Given the description of an element on the screen output the (x, y) to click on. 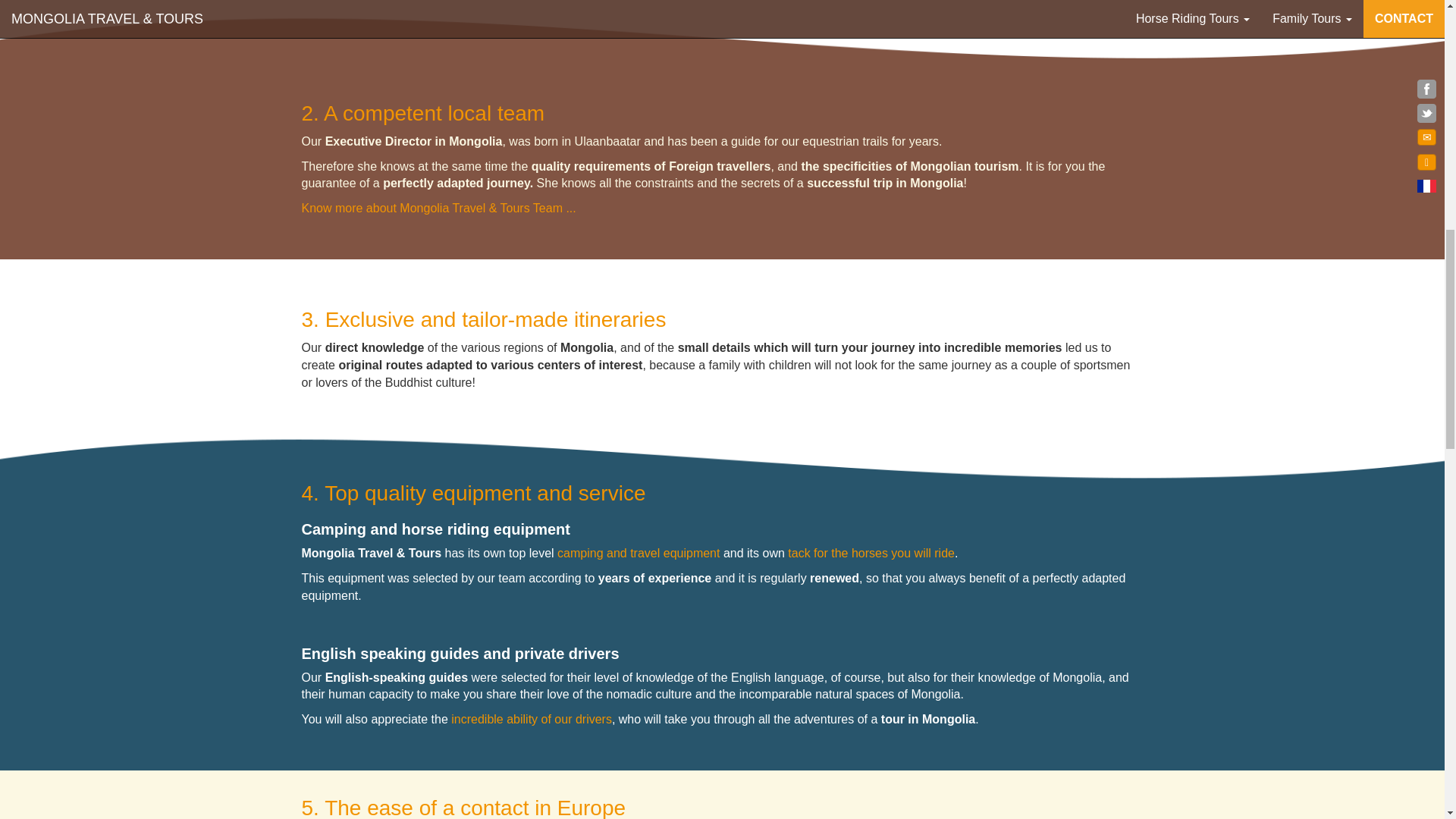
camping and travel equipment (637, 553)
incredible ability of our drivers (531, 718)
tack for the horses you will ride (871, 553)
